Given the description of an element on the screen output the (x, y) to click on. 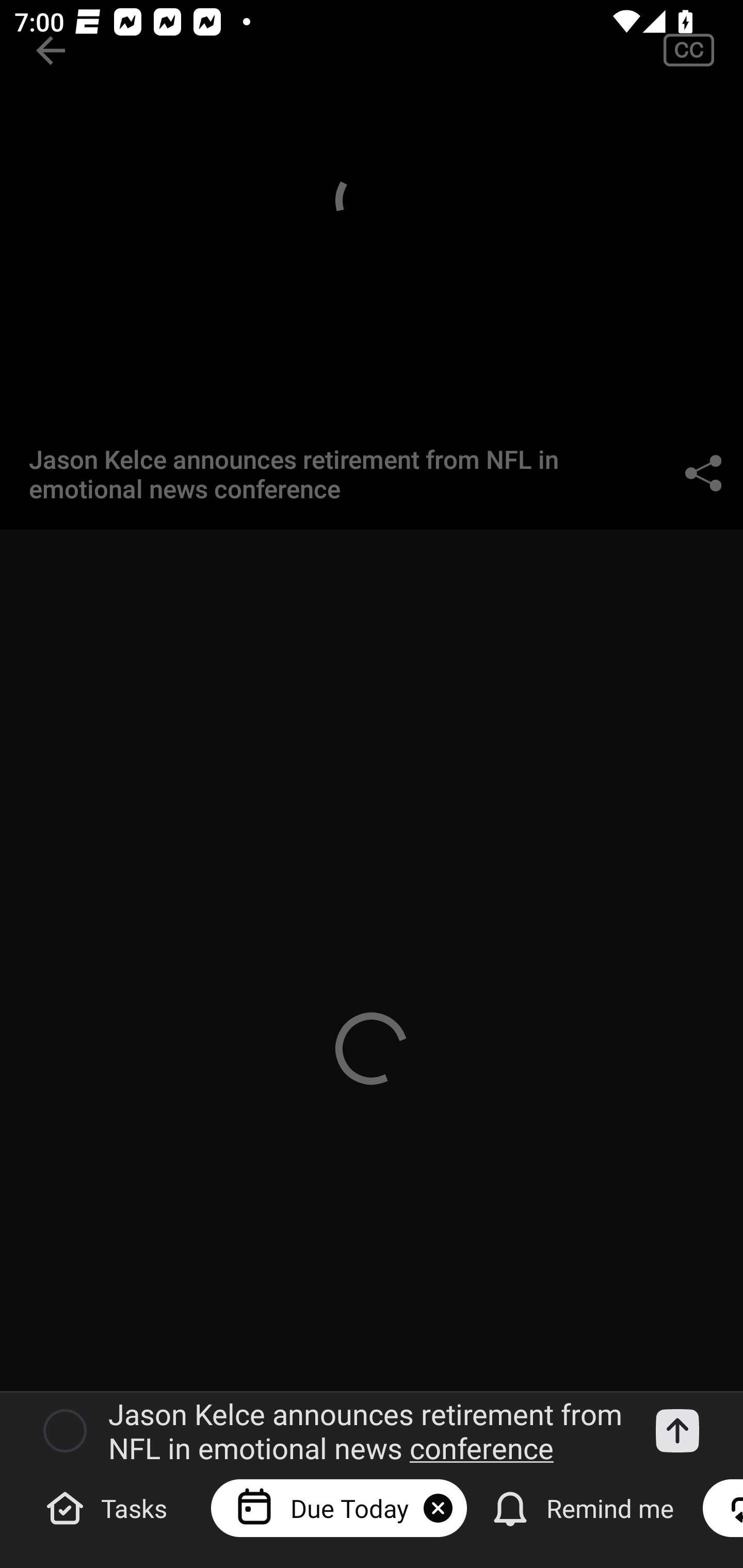
Add a task (676, 1430)
Tasks (108, 1507)
Due Today Remove due date (338, 1507)
Remind me (584, 1507)
Remove due date (437, 1508)
